Given the description of an element on the screen output the (x, y) to click on. 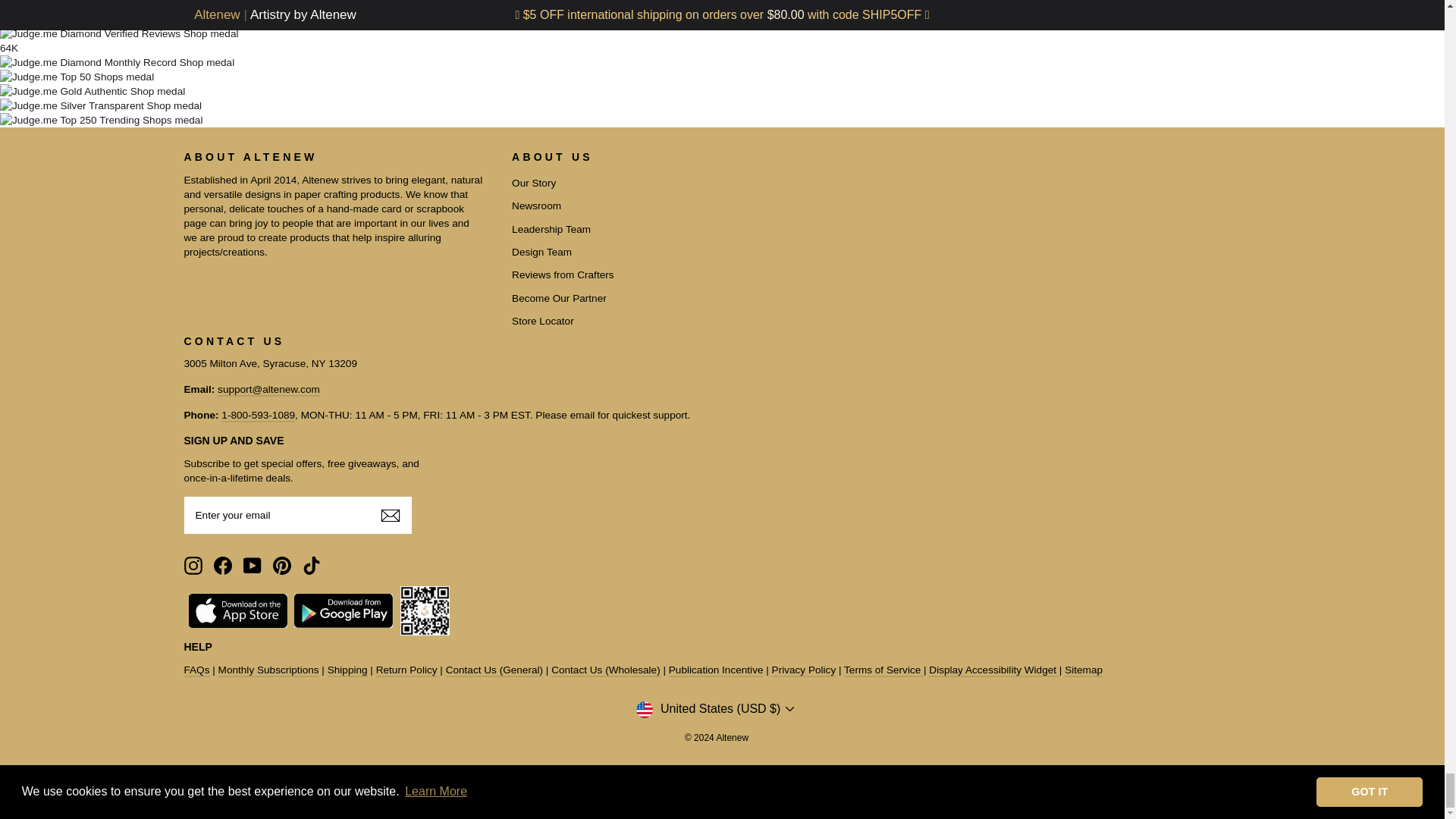
American Express (200, 782)
